Given the description of an element on the screen output the (x, y) to click on. 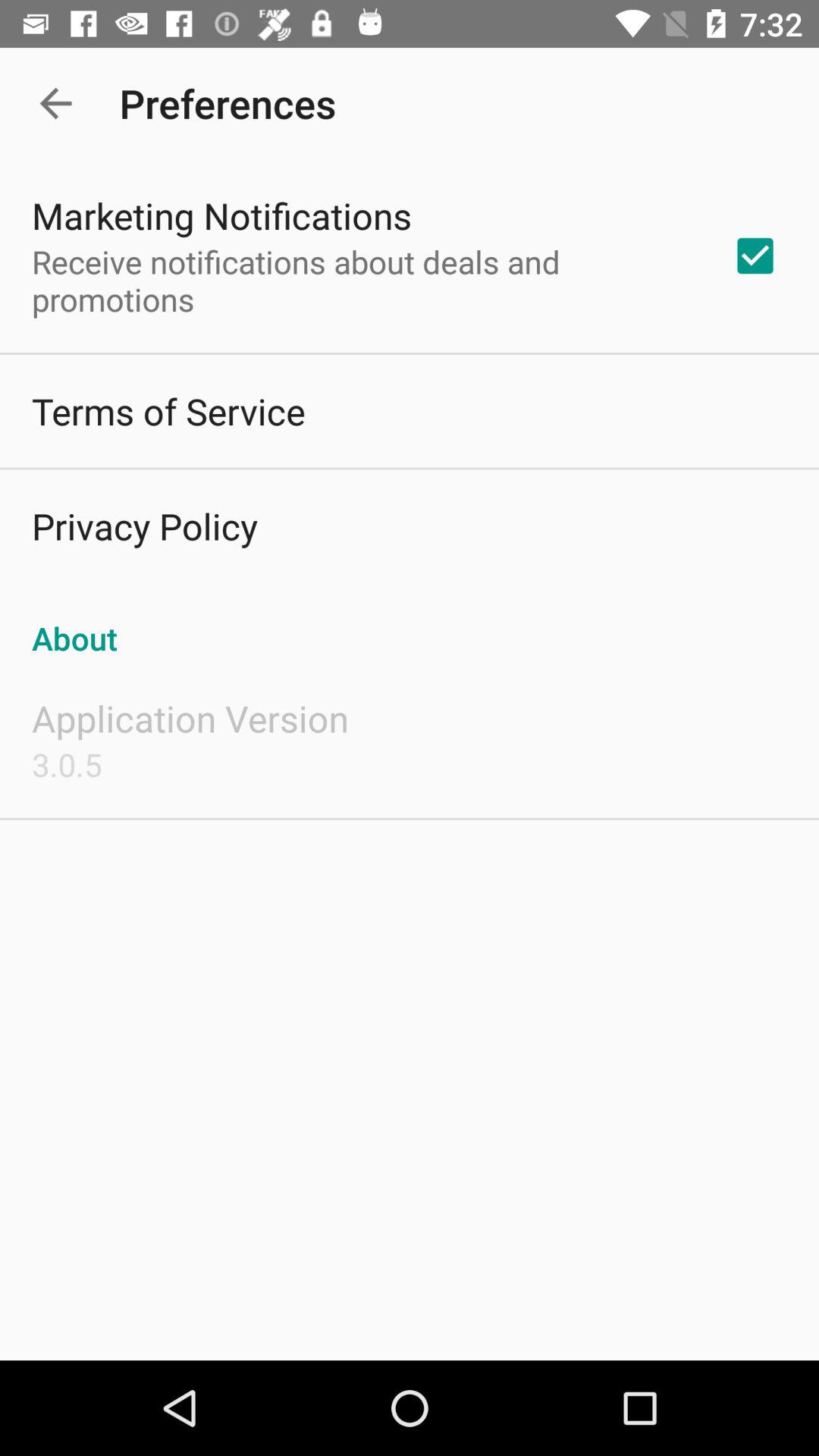
select the privacy policy item (144, 525)
